Given the description of an element on the screen output the (x, y) to click on. 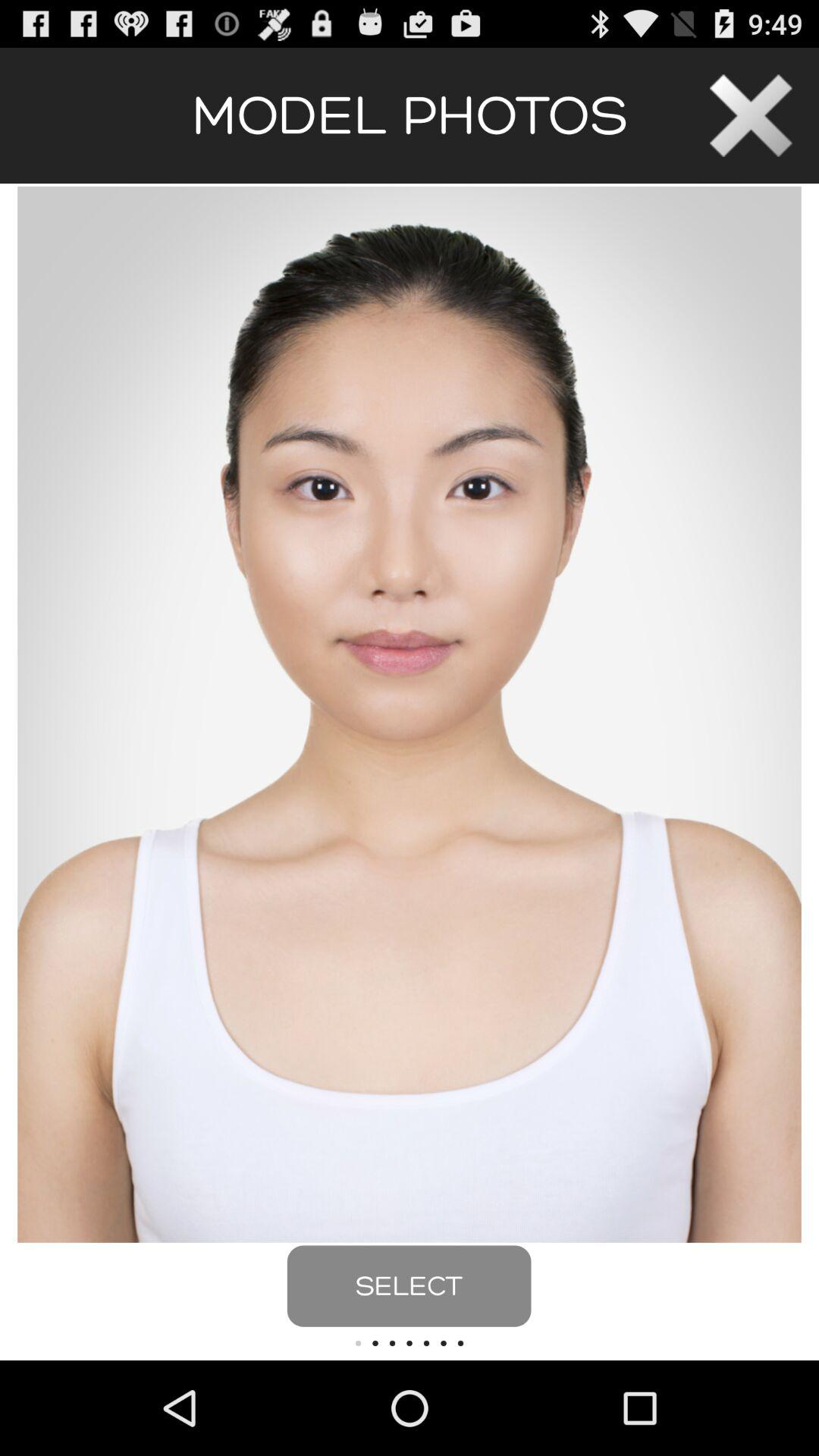
open the select button (409, 1285)
